Given the description of an element on the screen output the (x, y) to click on. 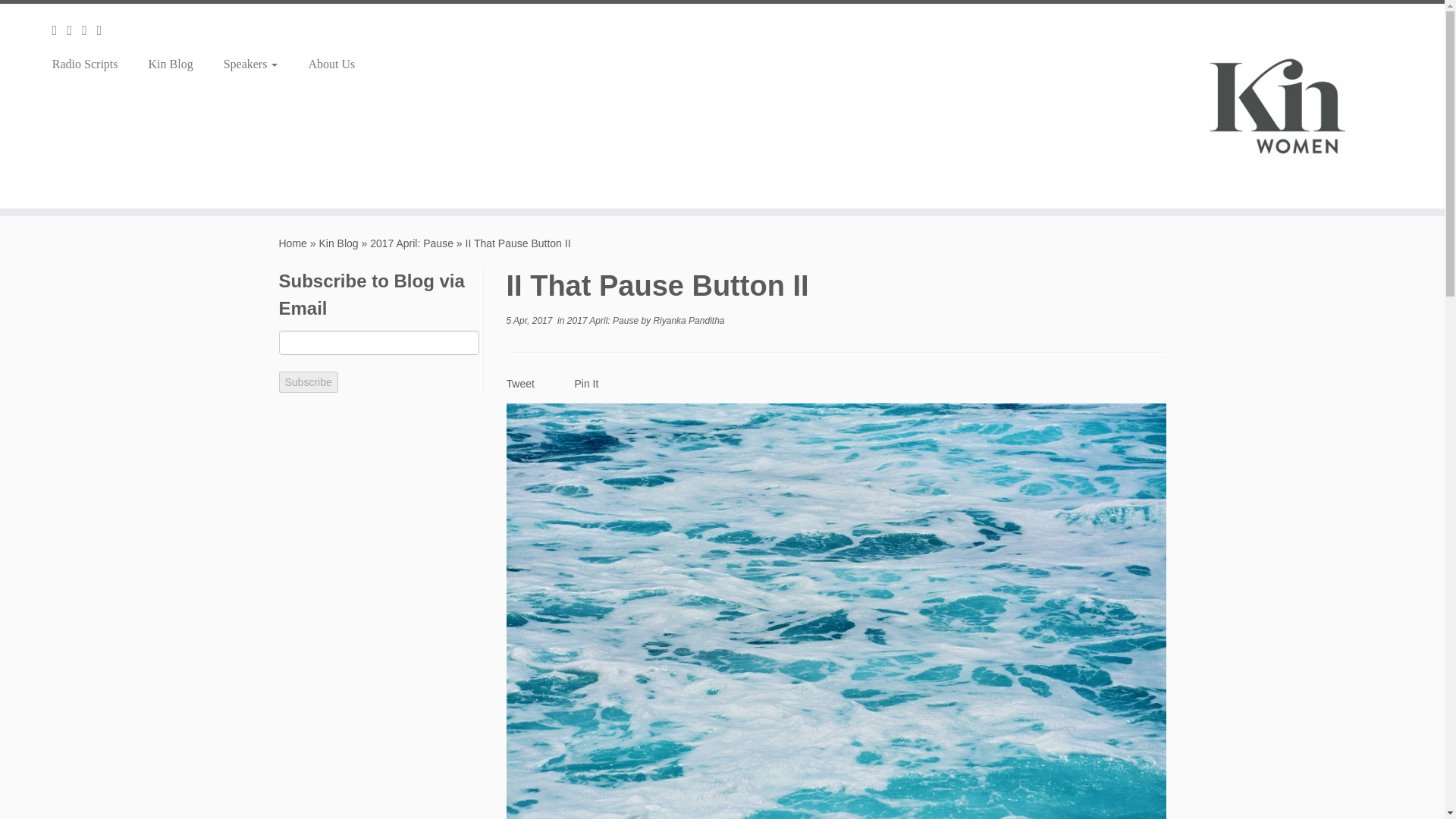
Kin Blog (338, 243)
Riyanka Panditha (687, 320)
2:26 pm (529, 320)
Kin Blog (338, 243)
About Us (330, 64)
Subscribe (308, 382)
Kin Blog (170, 64)
Speakers (251, 64)
Home (293, 243)
Follow me on Instagram (104, 29)
Subscribe to my rss feed (59, 29)
Follow me on Twitter (73, 29)
Radio Scripts (90, 64)
5 Apr, 2017 (529, 320)
Follow me on Facebook (89, 29)
